Given the description of an element on the screen output the (x, y) to click on. 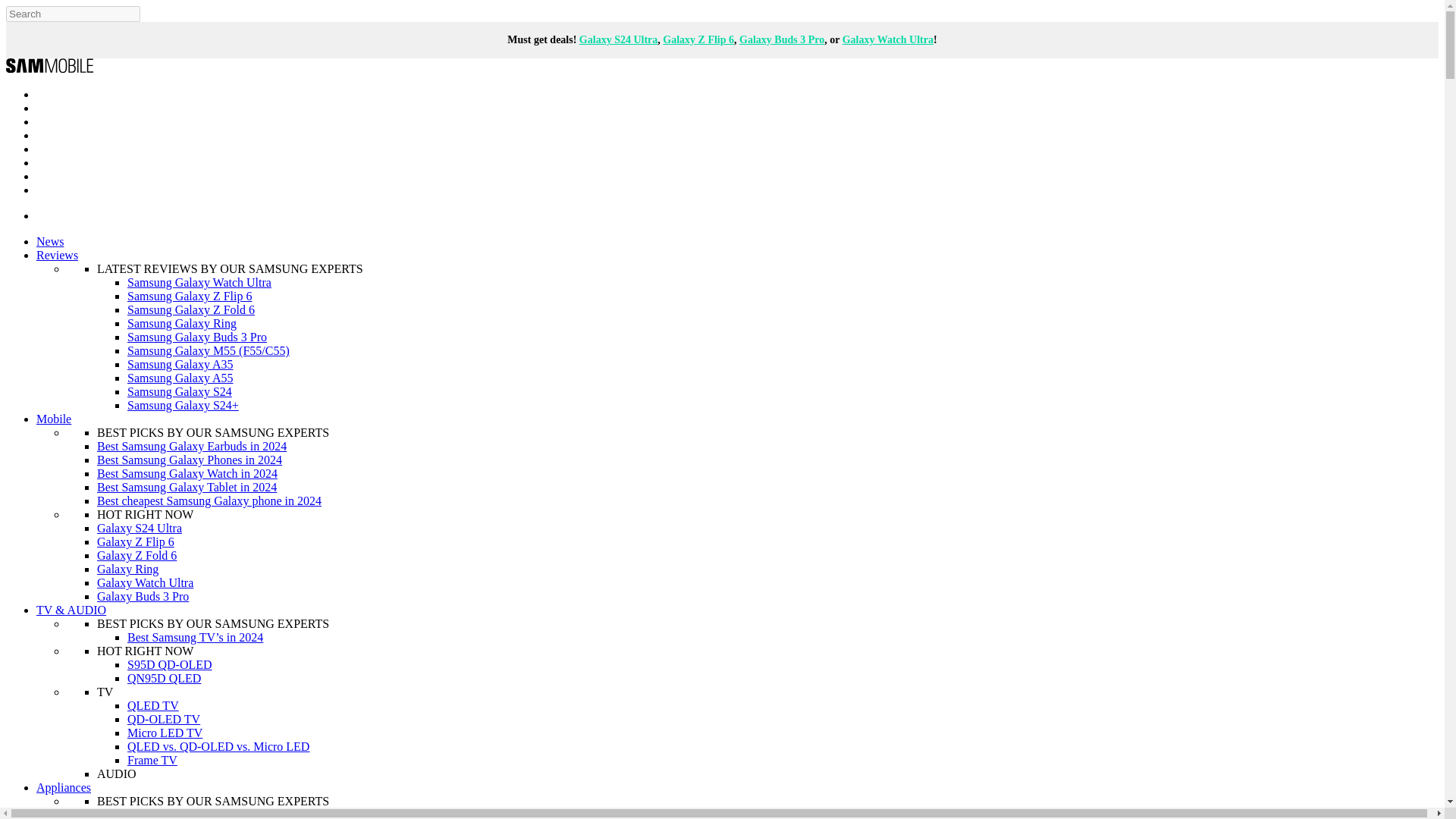
Galaxy Buds 3 Pro (781, 39)
Best Samsung Galaxy Phones in 2024 (189, 459)
Best Samsung Galaxy Earbuds in 2024 (191, 445)
Samsung Galaxy Z Flip 6 (189, 295)
Samsung Galaxy A55 (180, 377)
Galaxy S24 Ultra (618, 39)
Galaxy Z Flip 6 (697, 39)
Best Samsung Galaxy Tablet in 2024 (186, 486)
Samsung Galaxy Watch Ultra (199, 282)
Samsung Galaxy Ring (181, 323)
